Given the description of an element on the screen output the (x, y) to click on. 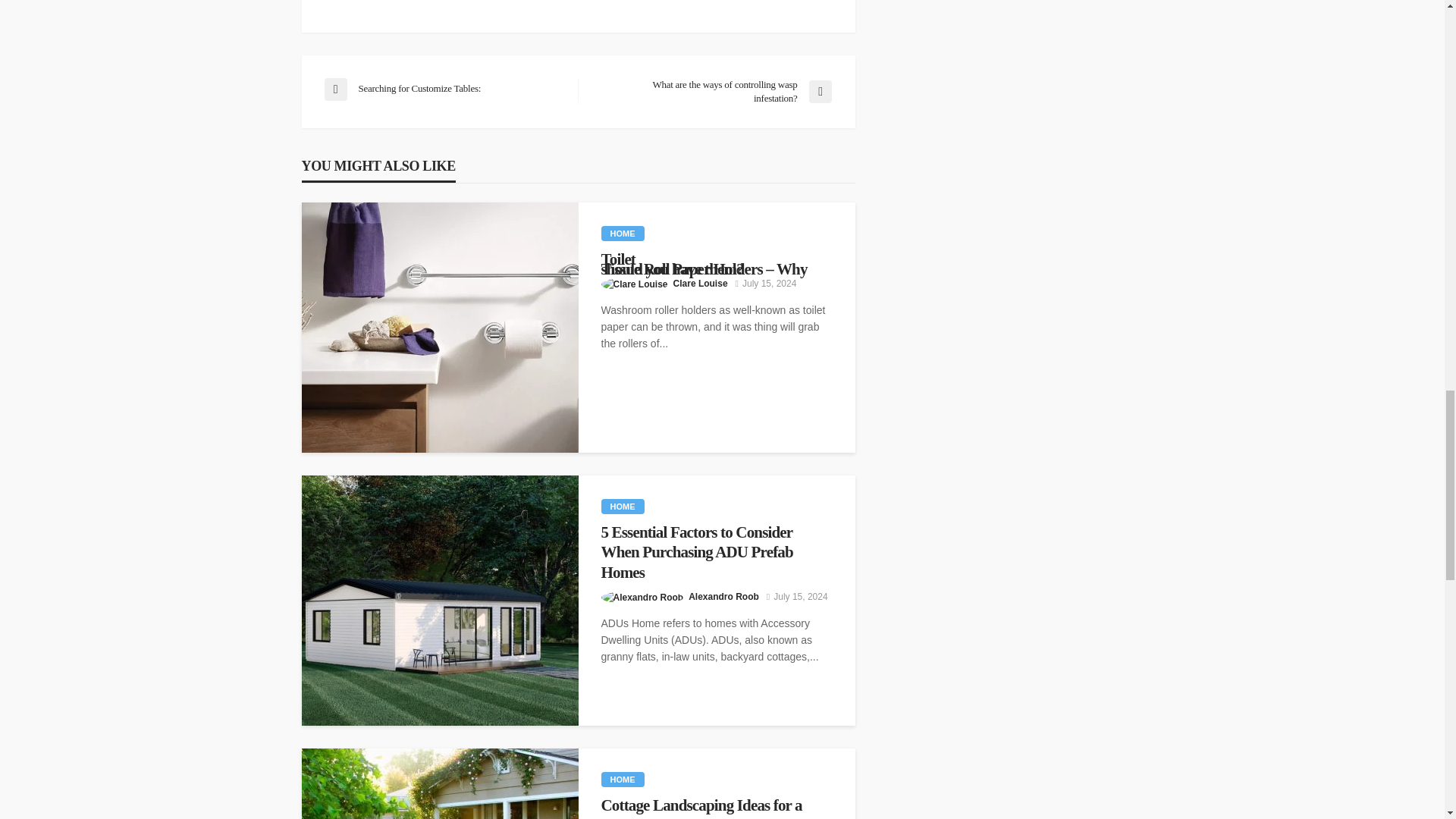
HOME (621, 506)
HOME (621, 233)
Home (621, 233)
Toilet (715, 259)
What are the ways of controlling wasp infestation? (711, 91)
Searching for Customize Tables: (443, 88)
Alexandro Roob (723, 596)
Searching for Customize Tables: (443, 88)
Clare Louise (700, 283)
What are the ways of controlling wasp infestation? (711, 91)
Posts tagged with toilet (715, 259)
